Given the description of an element on the screen output the (x, y) to click on. 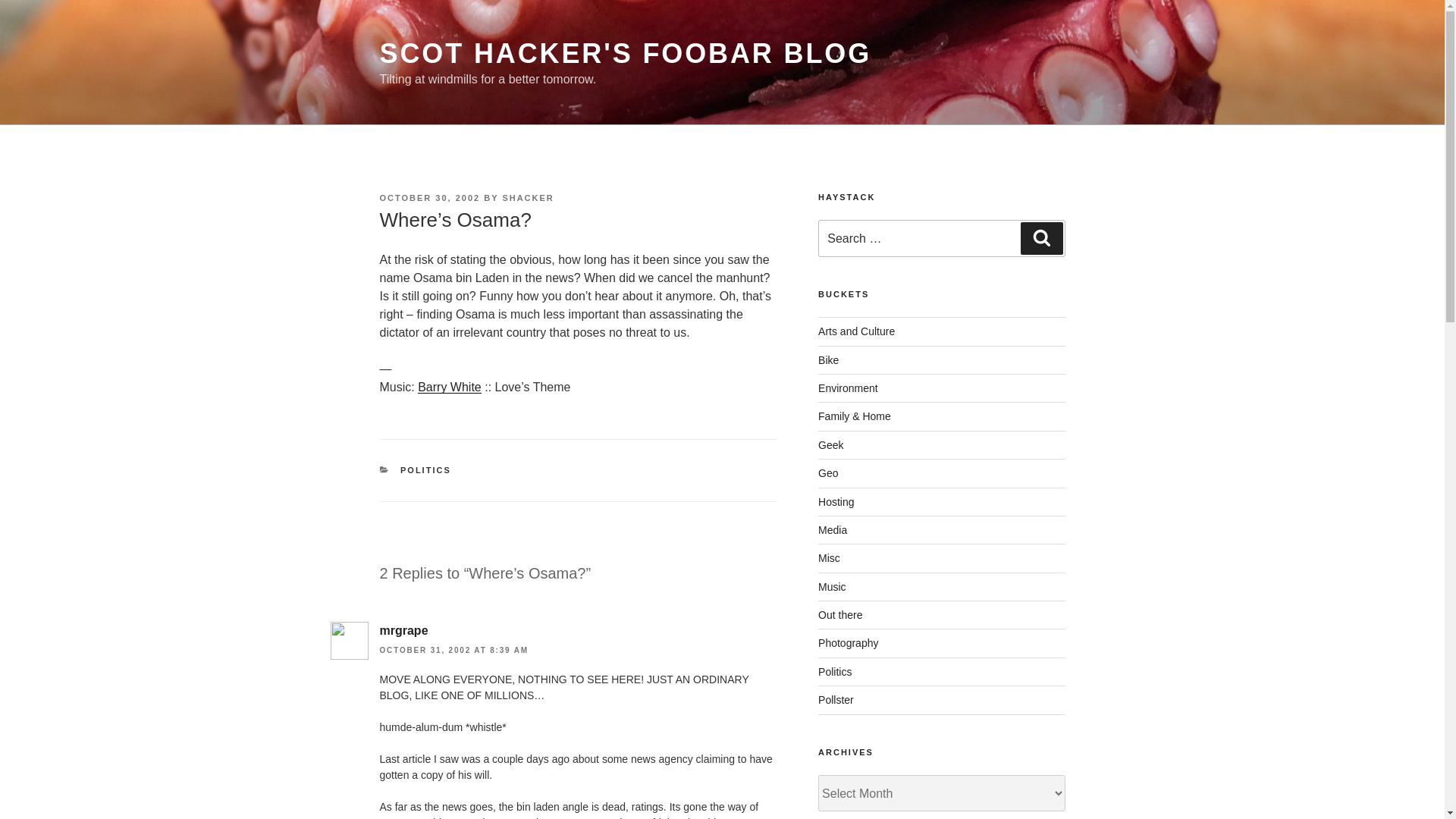
Geo (828, 472)
OCTOBER 30, 2002 (429, 197)
Politics (834, 671)
Out there (839, 614)
mrgrape (403, 630)
Bike (828, 359)
Pollster (835, 699)
Environment (847, 387)
Photography (847, 643)
SHACKER (527, 197)
OCTOBER 31, 2002 AT 8:39 AM (452, 650)
Media (832, 530)
SCOT HACKER'S FOOBAR BLOG (624, 52)
POLITICS (425, 470)
Hosting (835, 501)
